Given the description of an element on the screen output the (x, y) to click on. 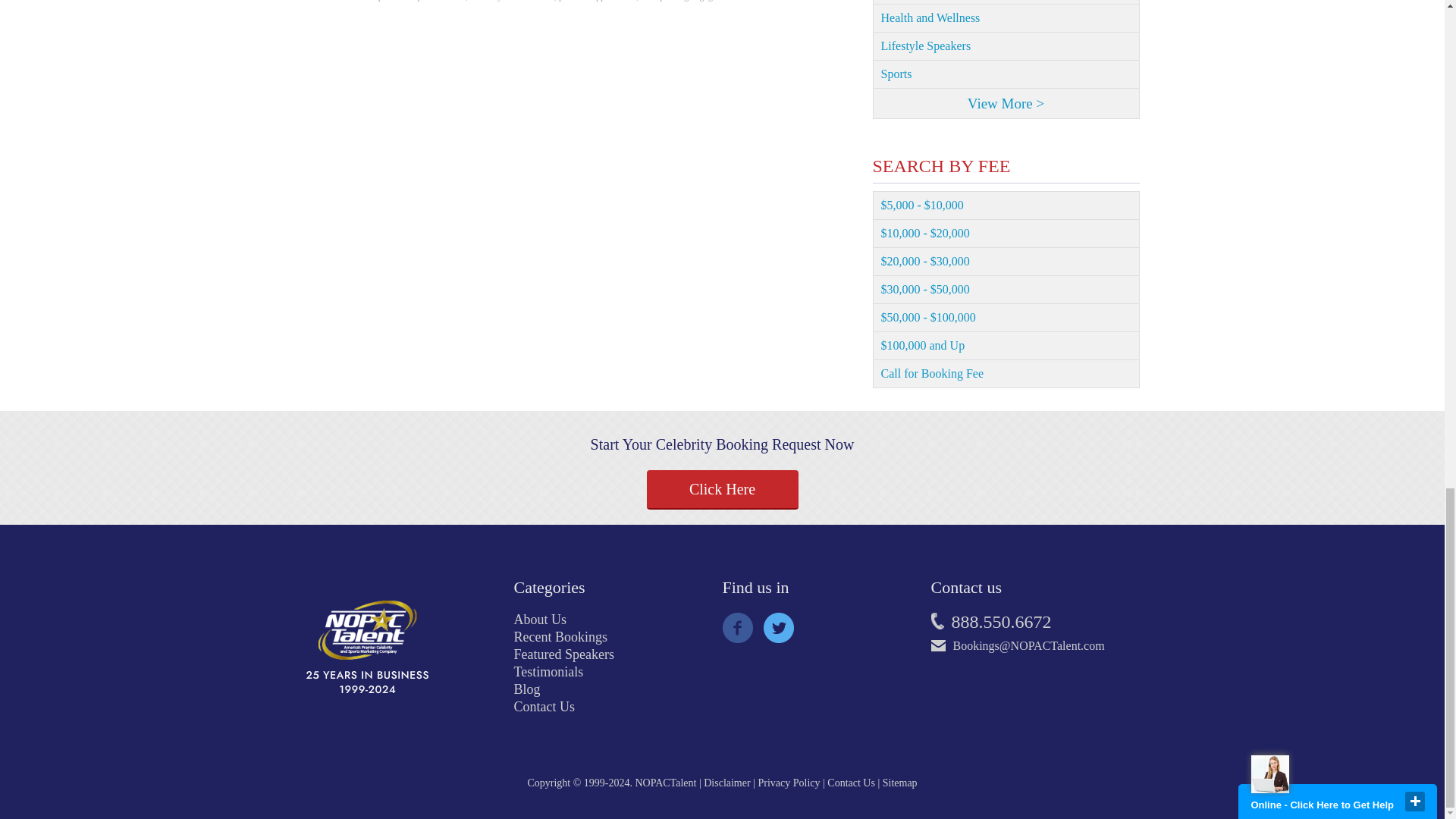
Entertainment (1005, 2)
Health and Wellness (1005, 18)
Lifestyle Speakers (1005, 46)
Sports (1005, 74)
